Given the description of an element on the screen output the (x, y) to click on. 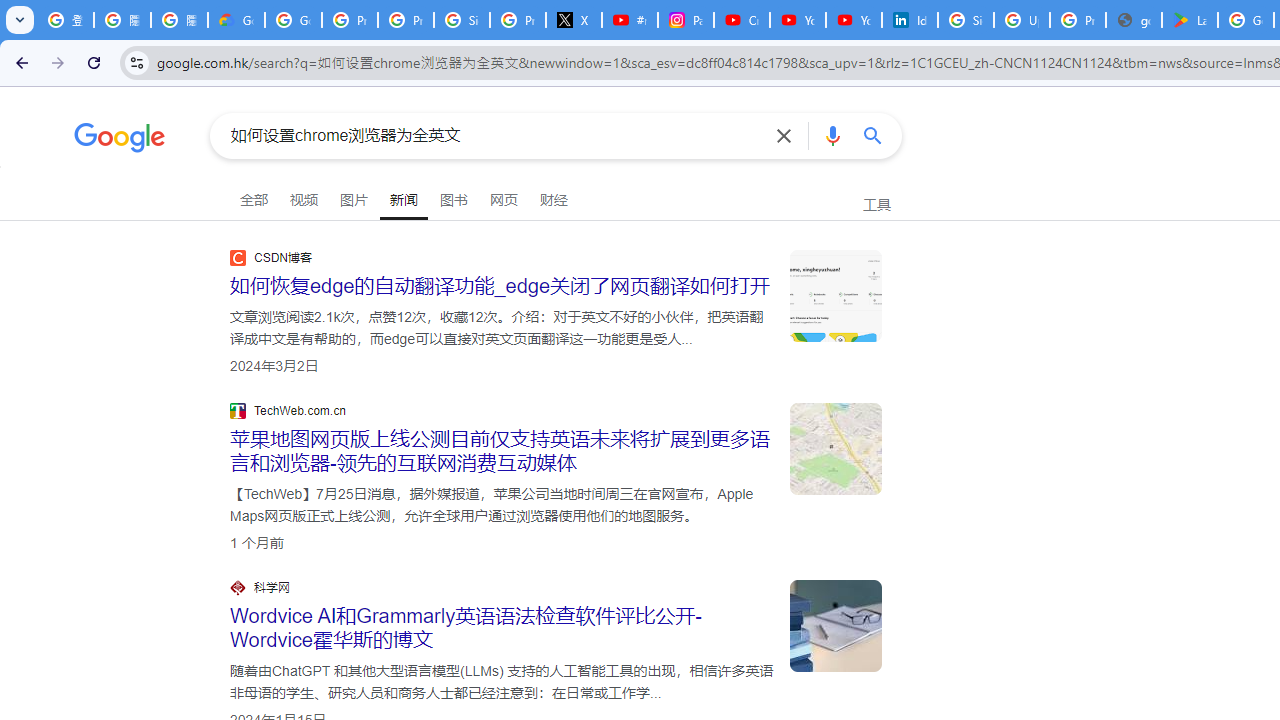
Sign in - Google Accounts (966, 20)
Google Cloud Privacy Notice (235, 20)
